Given the description of an element on the screen output the (x, y) to click on. 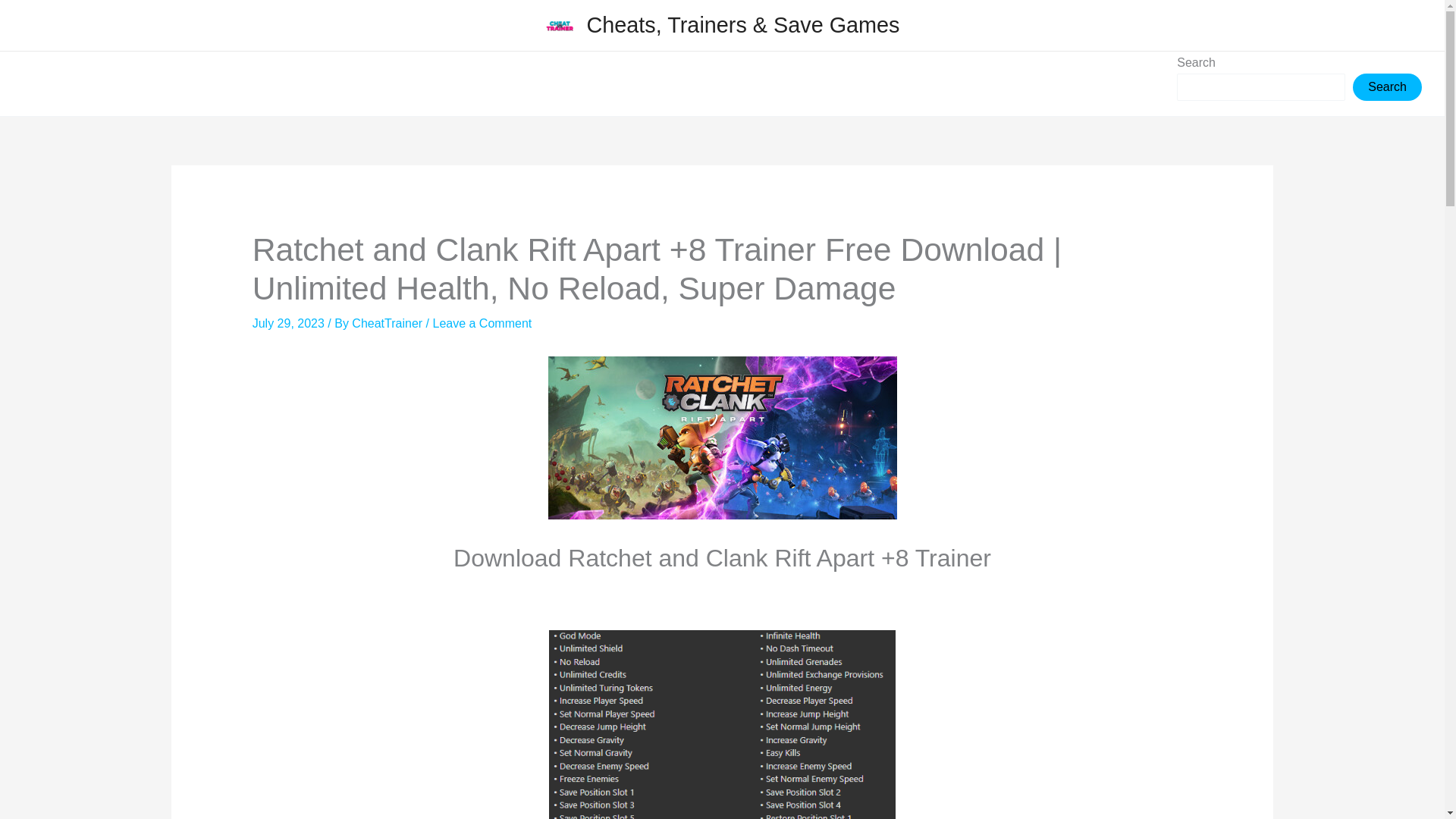
View all posts by CheatTrainer (388, 323)
CheatTrainer (388, 323)
Leave a Comment (481, 323)
Home (52, 83)
Search (1387, 86)
